Given the description of an element on the screen output the (x, y) to click on. 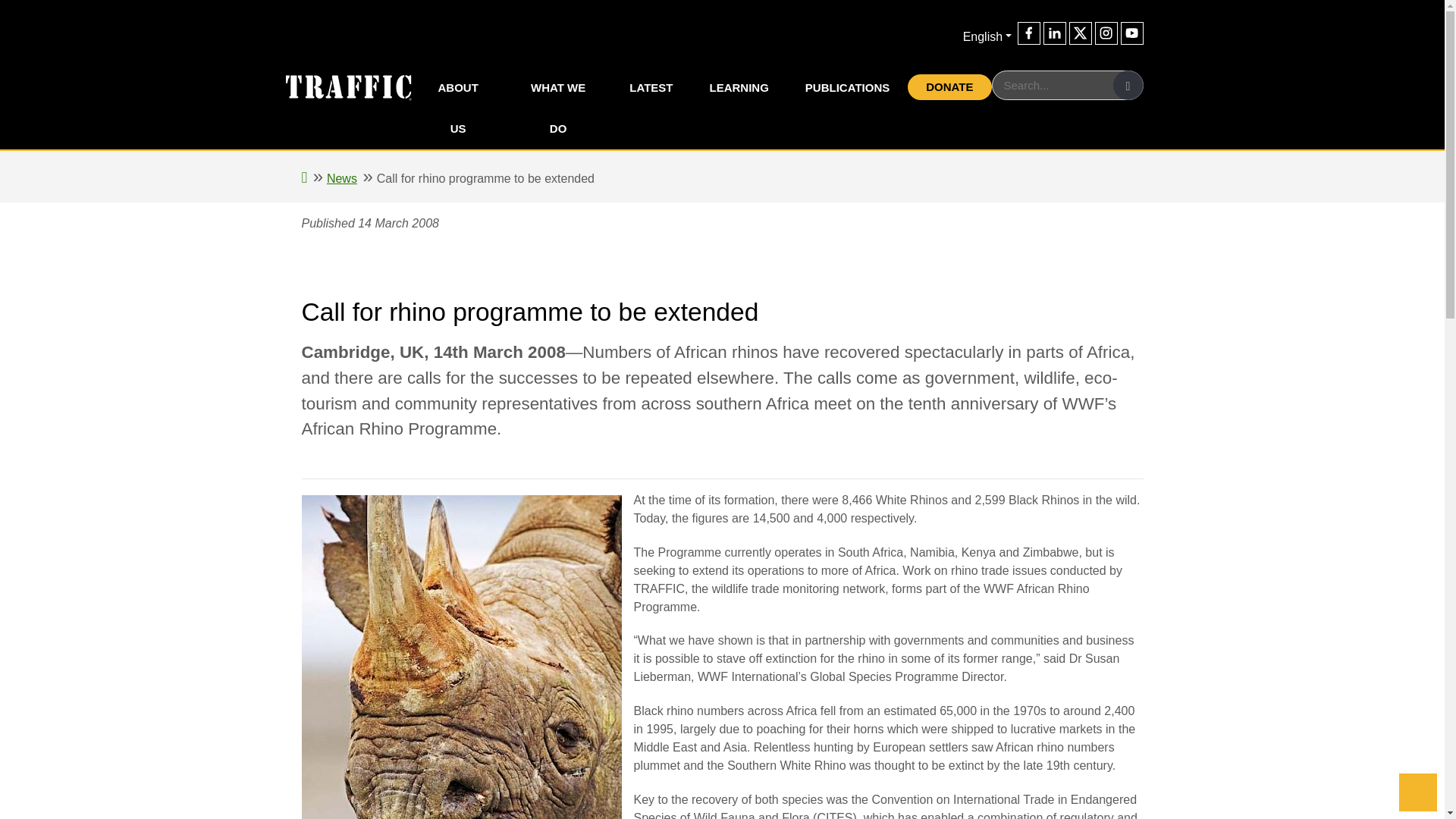
back to top (1418, 792)
WHAT WE DO (558, 108)
PUBLICATIONS (847, 87)
Follow us on Twitter (1080, 33)
LATEST (650, 87)
English (986, 36)
Visit our Facebook Page (1029, 33)
Link to TRAFFIC.org home page (338, 86)
Contact us at LinkedIn (1054, 33)
Visit our YouTube Channel (1131, 33)
